Given the description of an element on the screen output the (x, y) to click on. 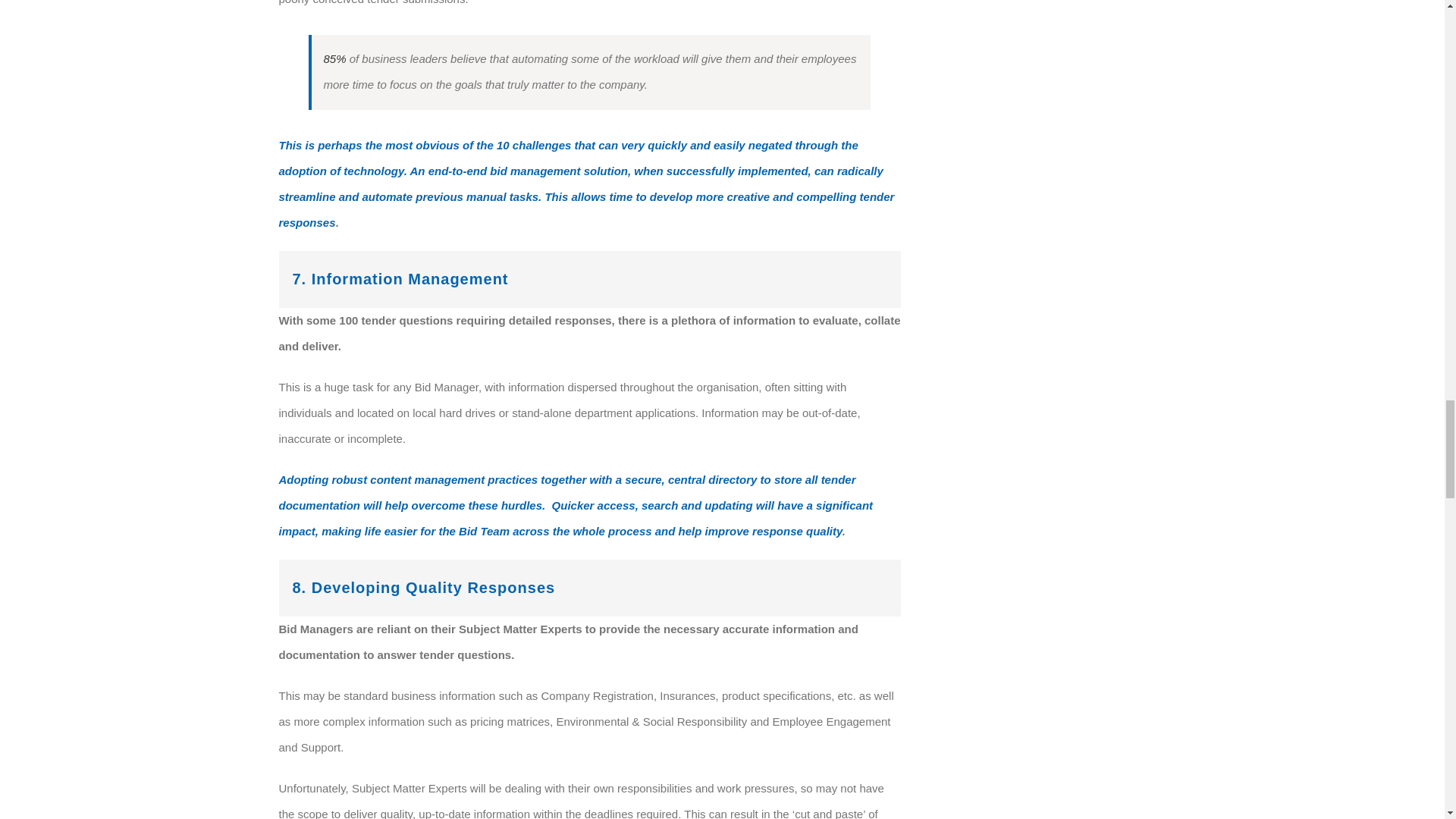
7. Information Management (590, 278)
8. Developing Quality Responses (590, 587)
